Given the description of an element on the screen output the (x, y) to click on. 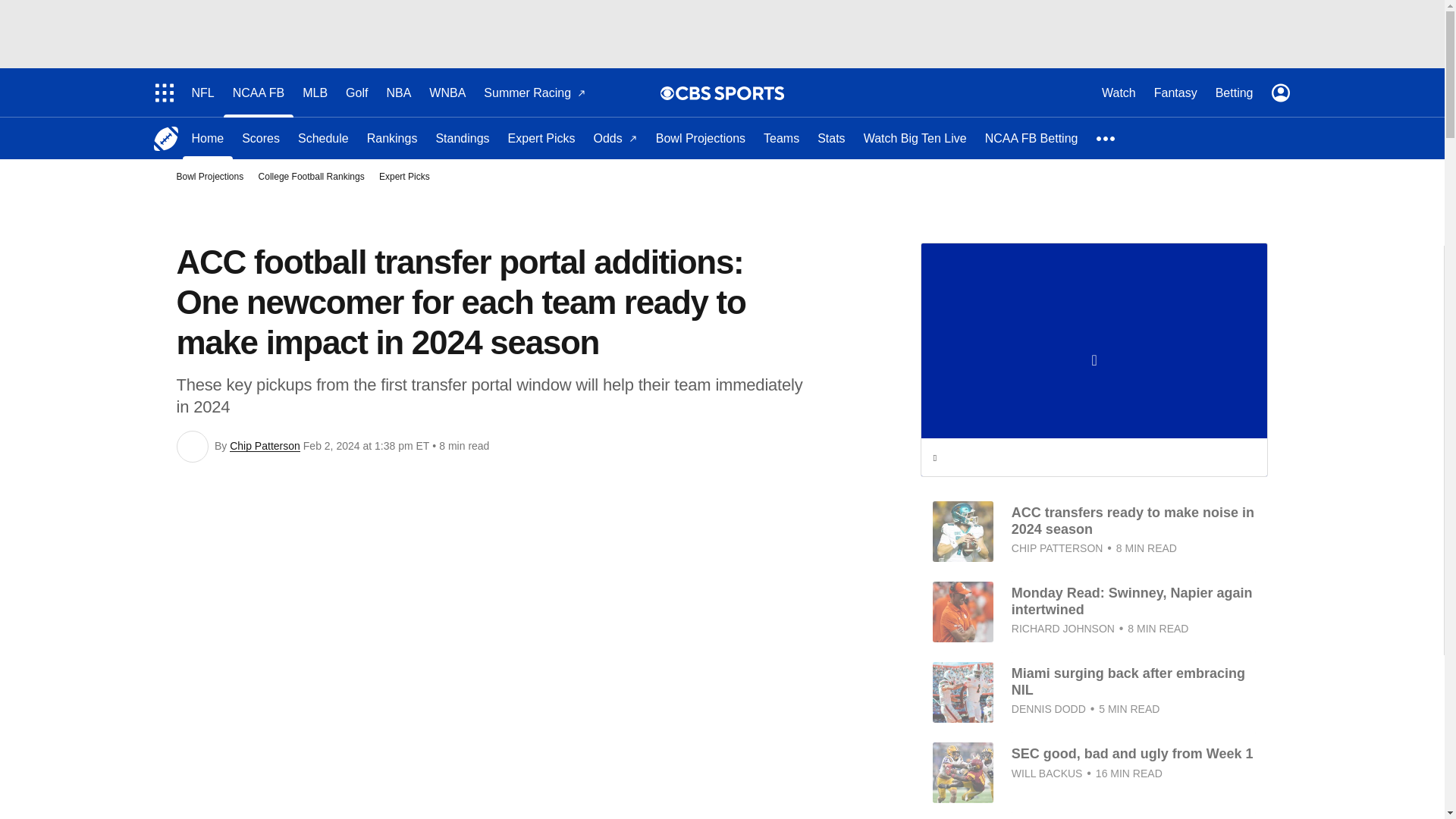
SportsNcaafb (164, 137)
CBS Logo (729, 92)
CBS Eye (667, 92)
